Given the description of an element on the screen output the (x, y) to click on. 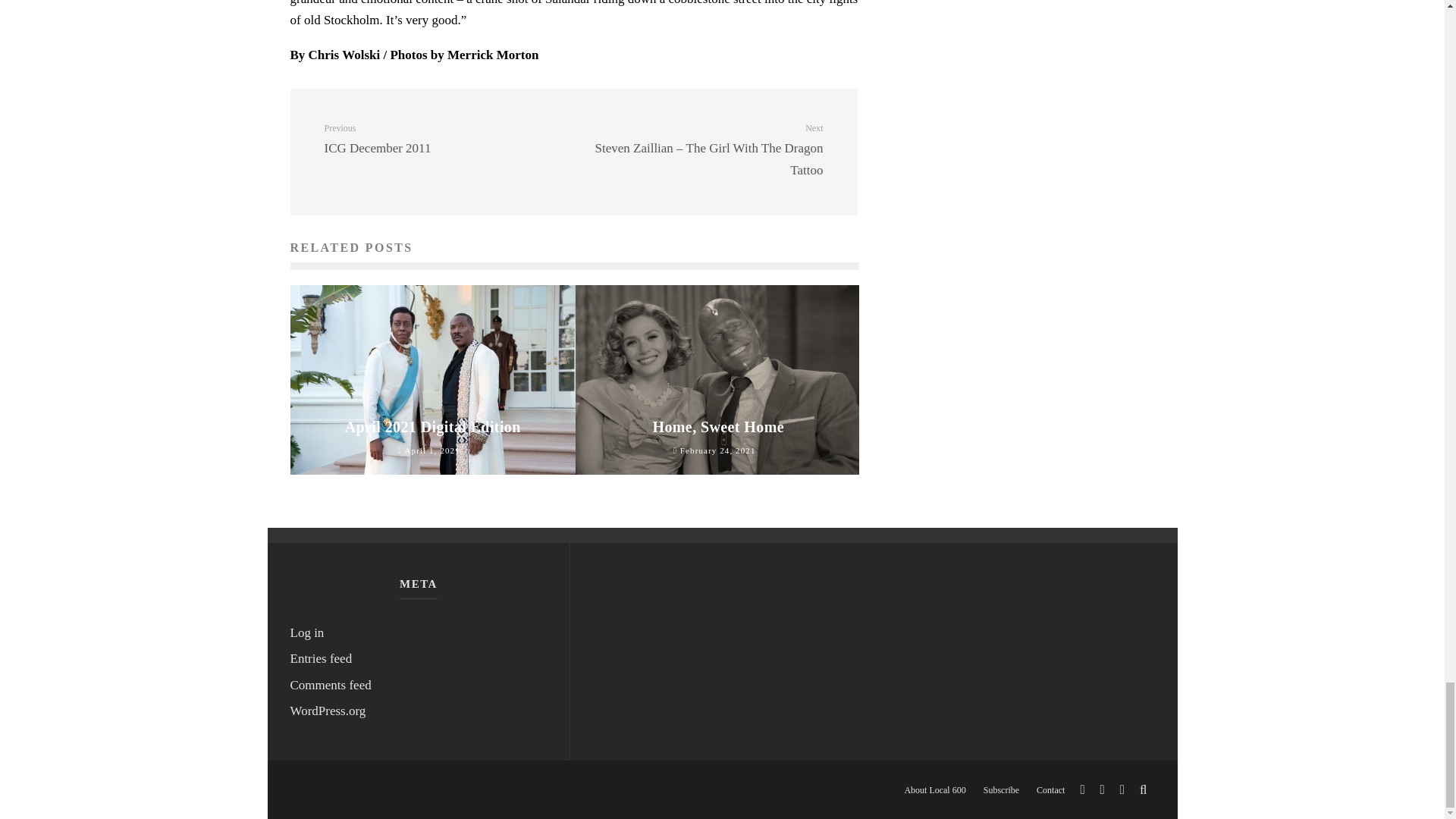
Log in (443, 139)
Home, Sweet Home (306, 632)
Comments feed (718, 426)
Entries feed (330, 685)
April 2021 Digital Edition (320, 658)
About Local 600 (433, 426)
WordPress.org (934, 789)
